Given the description of an element on the screen output the (x, y) to click on. 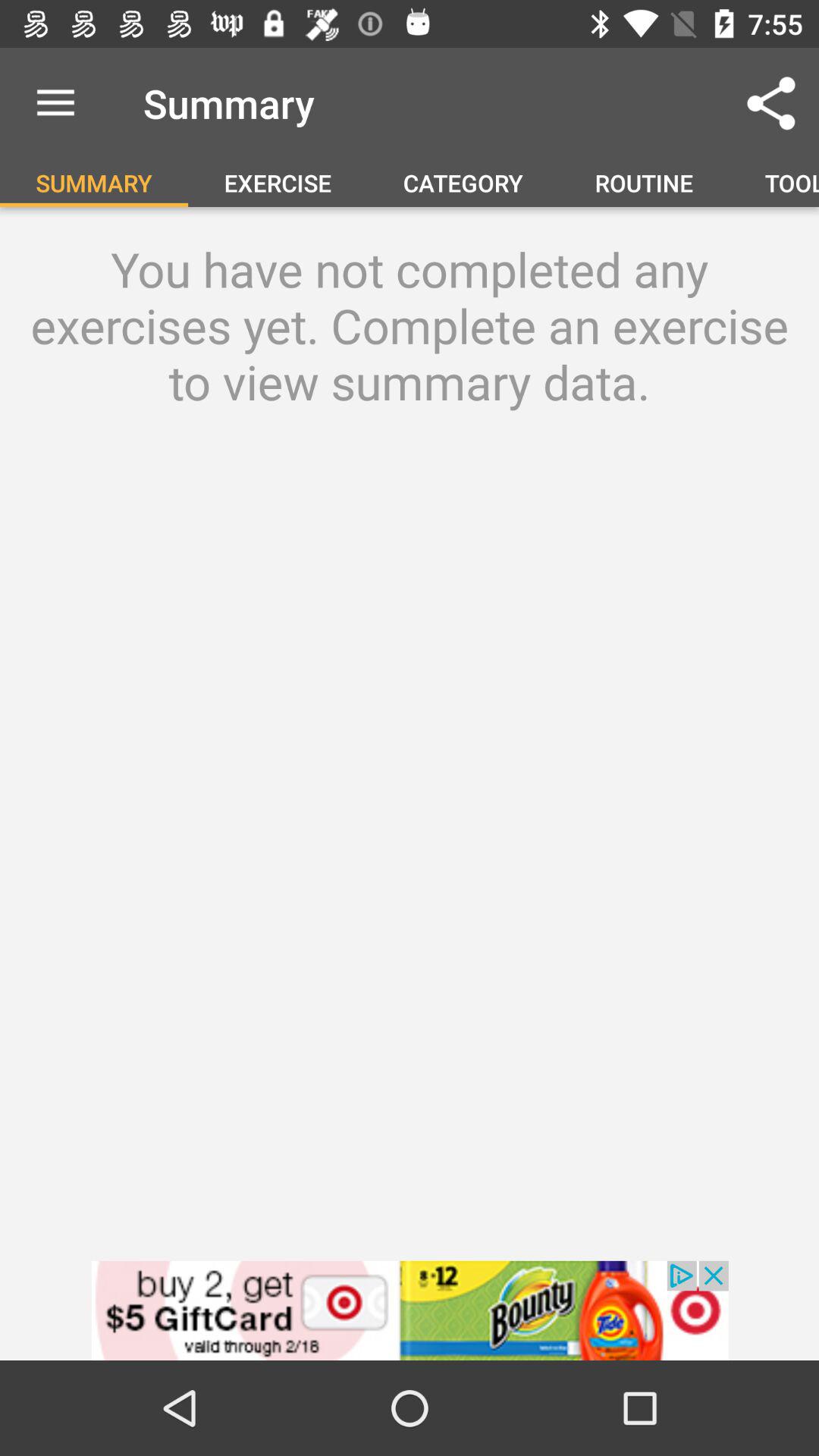
go to advertisement (409, 1310)
